Given the description of an element on the screen output the (x, y) to click on. 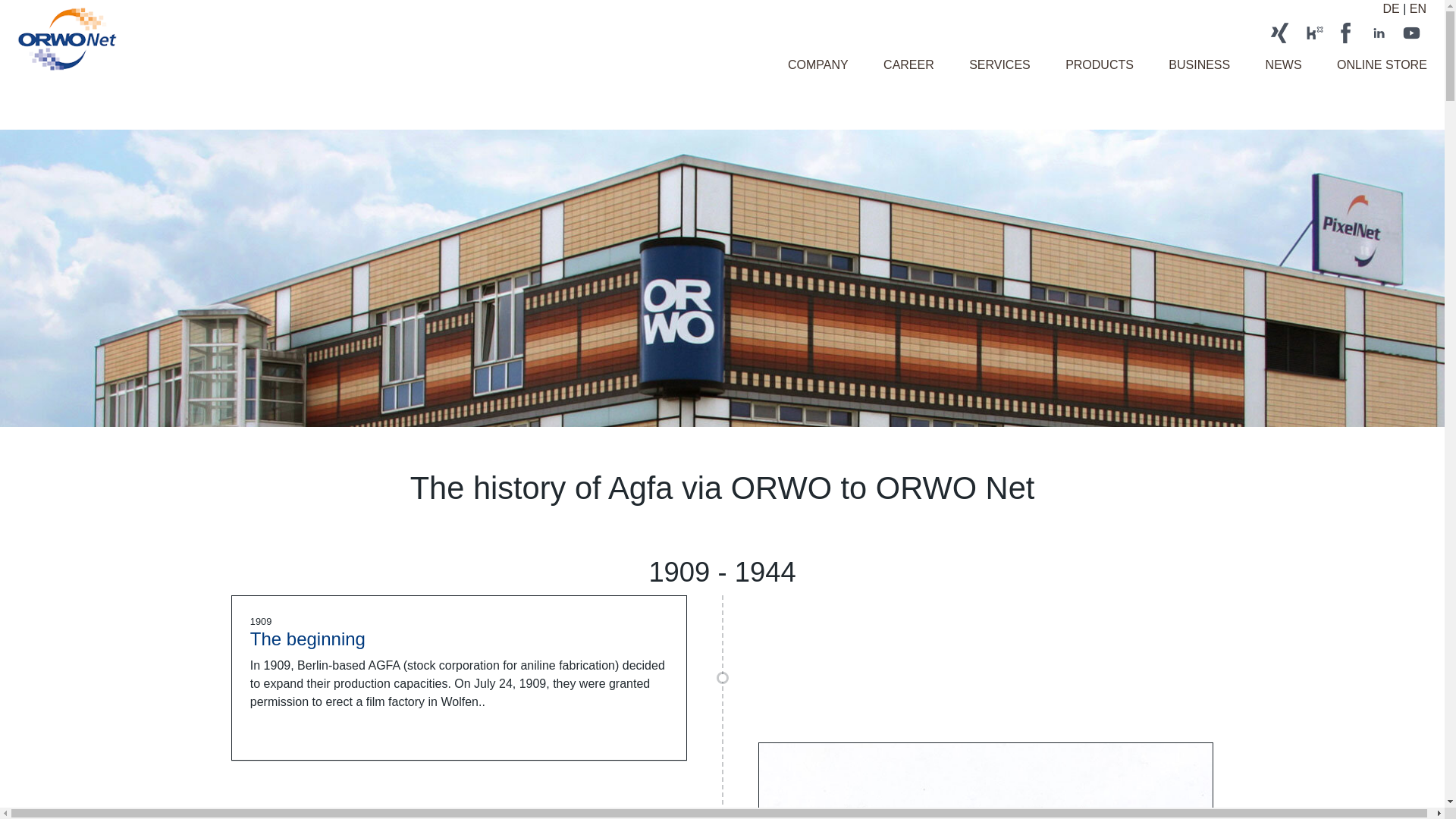
English (1417, 8)
News (1283, 64)
Deutsch (1390, 8)
Company (817, 64)
Online store (1381, 64)
Services (999, 64)
EN (1417, 8)
Products (1099, 64)
PRODUCTS (1099, 64)
Business (1198, 64)
